Given the description of an element on the screen output the (x, y) to click on. 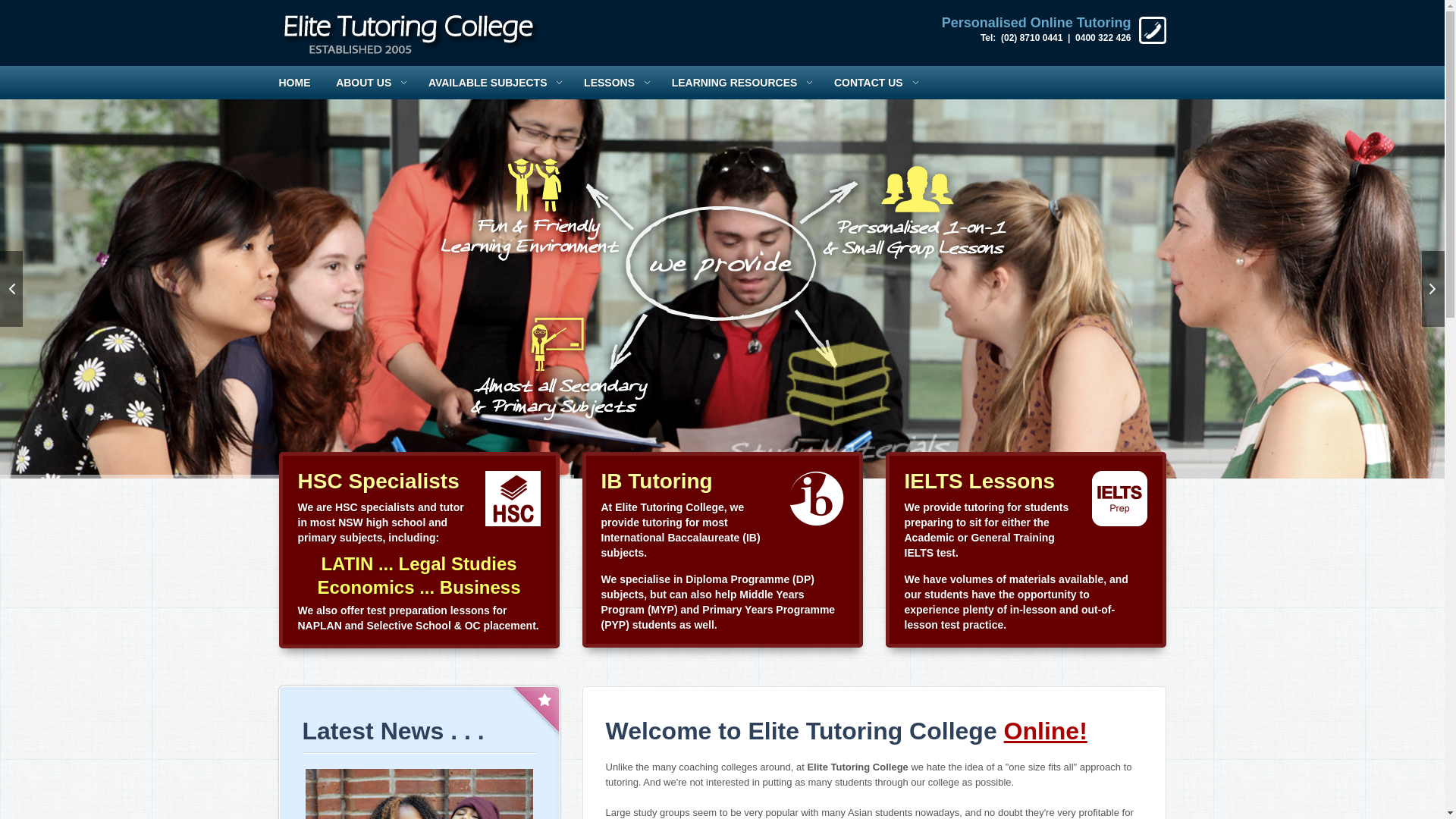
LEARNING RESOURCES Element type: text (745, 82)
HOME Element type: text (300, 82)
CONTACT US Element type: text (879, 82)
AVAILABLE SUBJECTS Element type: text (499, 82)
ABOUT US Element type: text (374, 82)
LESSONS Element type: text (620, 82)
